Given the description of an element on the screen output the (x, y) to click on. 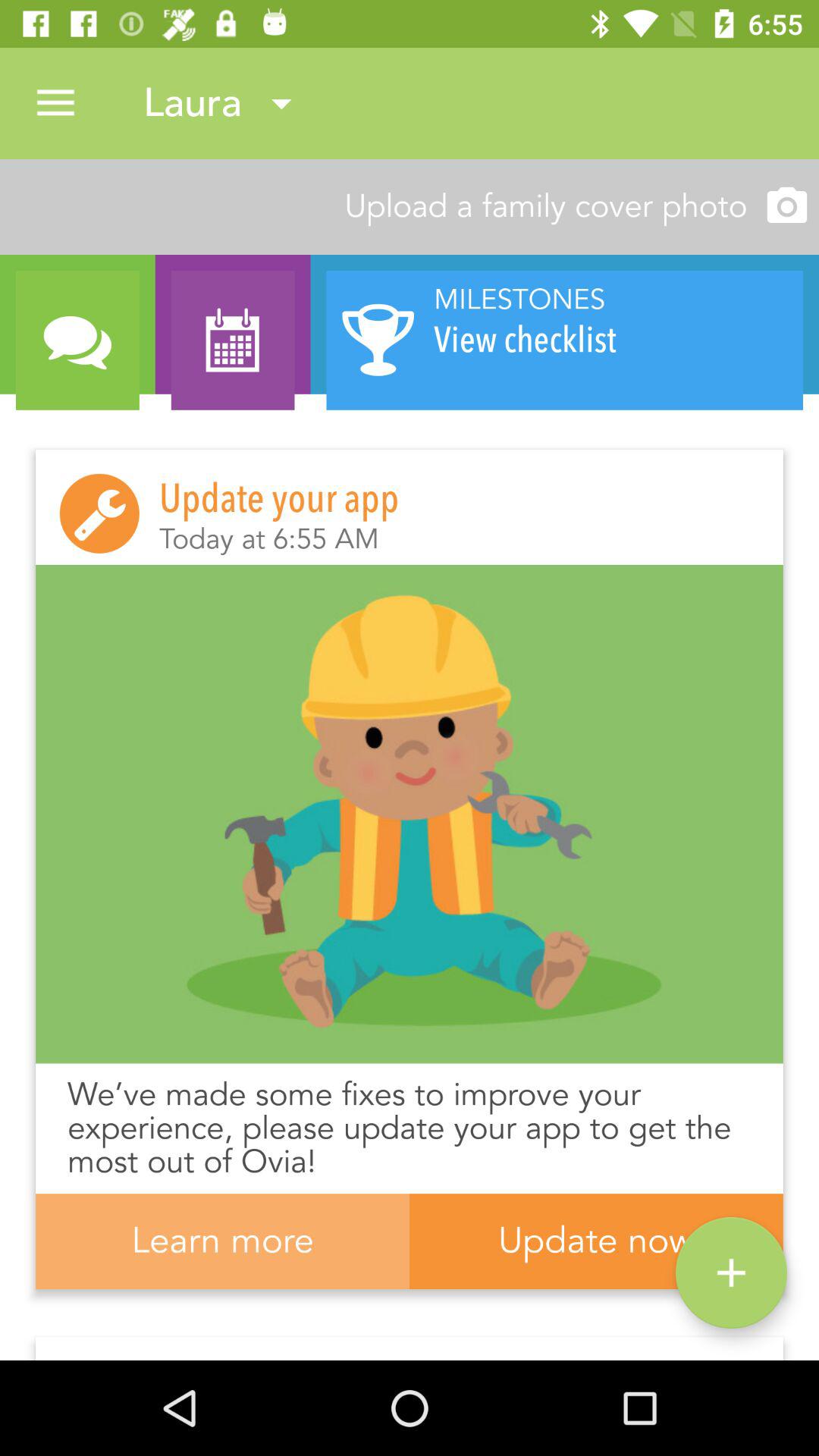
click the icon to the left of the laura icon (55, 103)
